Given the description of an element on the screen output the (x, y) to click on. 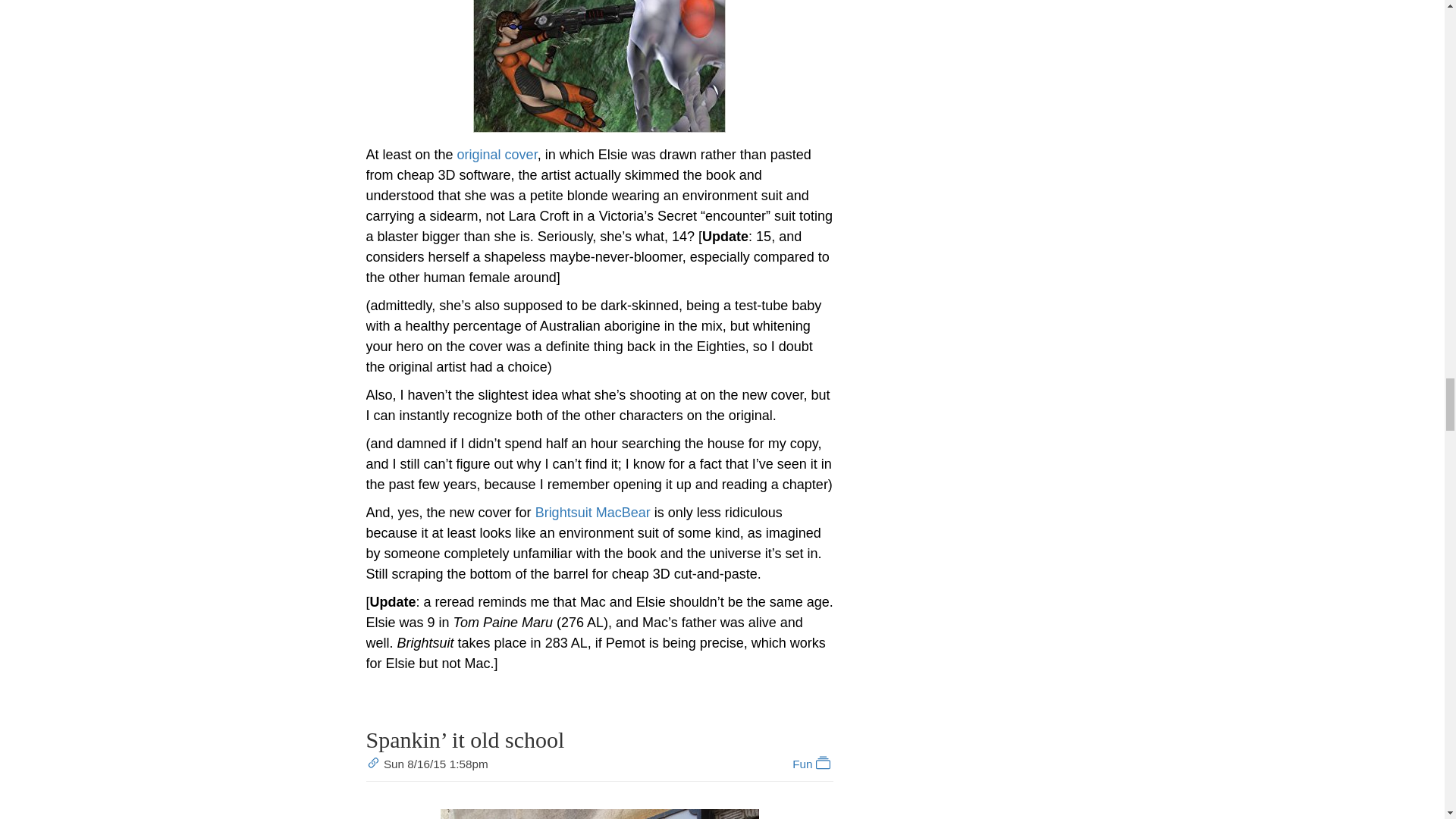
Adult Toys Porno Shop (599, 814)
